Given the description of an element on the screen output the (x, y) to click on. 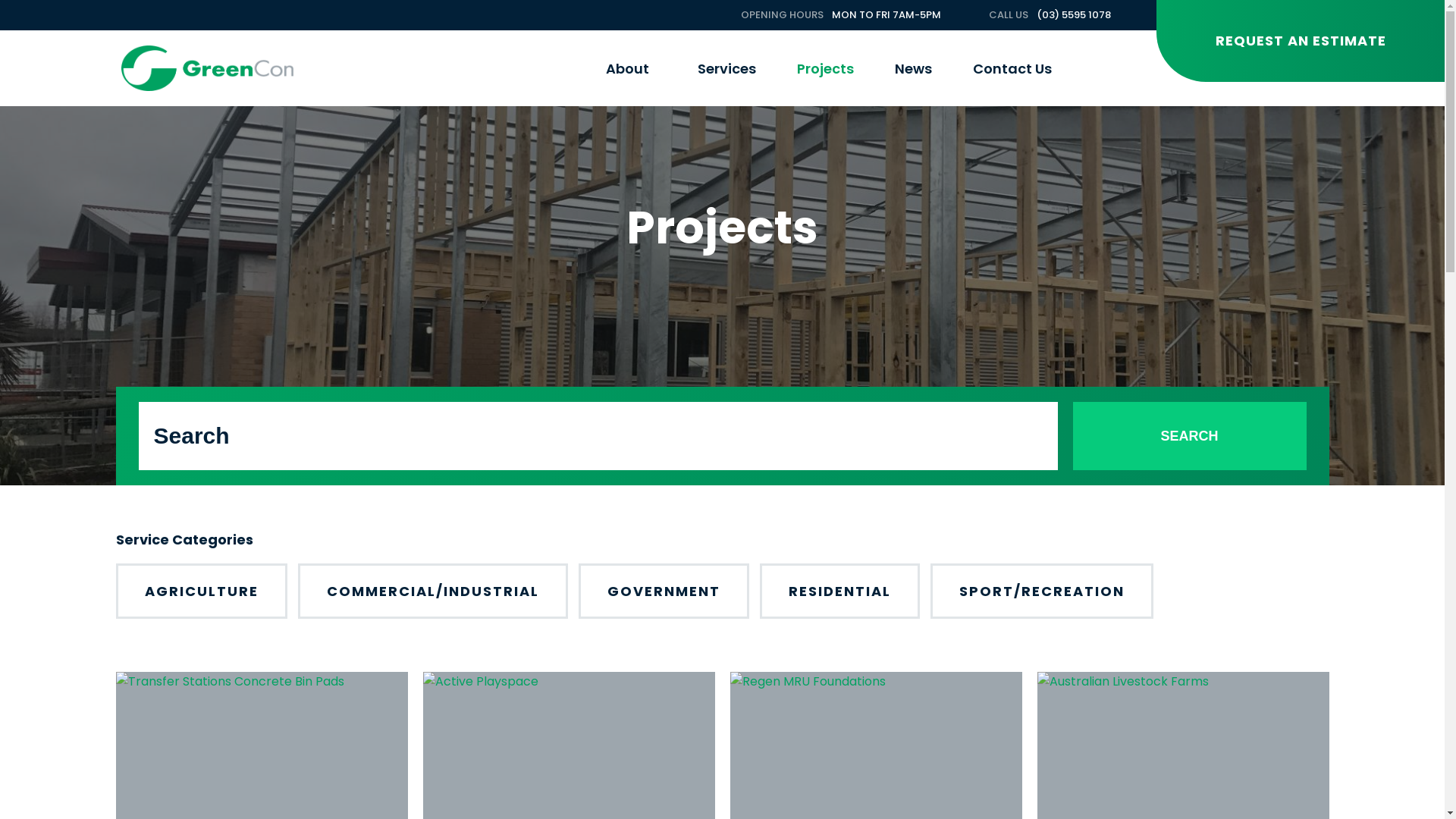
COMMERCIAL/INDUSTRIAL Element type: text (432, 590)
REQUEST AN ESTIMATE Element type: text (1300, 40)
Contact Us Element type: text (1011, 68)
SPORT/RECREATION Element type: text (1040, 590)
SEARCH Element type: text (1188, 435)
RESIDENTIAL Element type: text (839, 590)
About Element type: text (630, 68)
(03) 5595 1078 Element type: text (1073, 14)
GOVERNMENT Element type: text (662, 590)
News Element type: text (912, 68)
Services Element type: text (726, 68)
AGRICULTURE Element type: text (200, 590)
Projects Element type: text (825, 68)
